Given the description of an element on the screen output the (x, y) to click on. 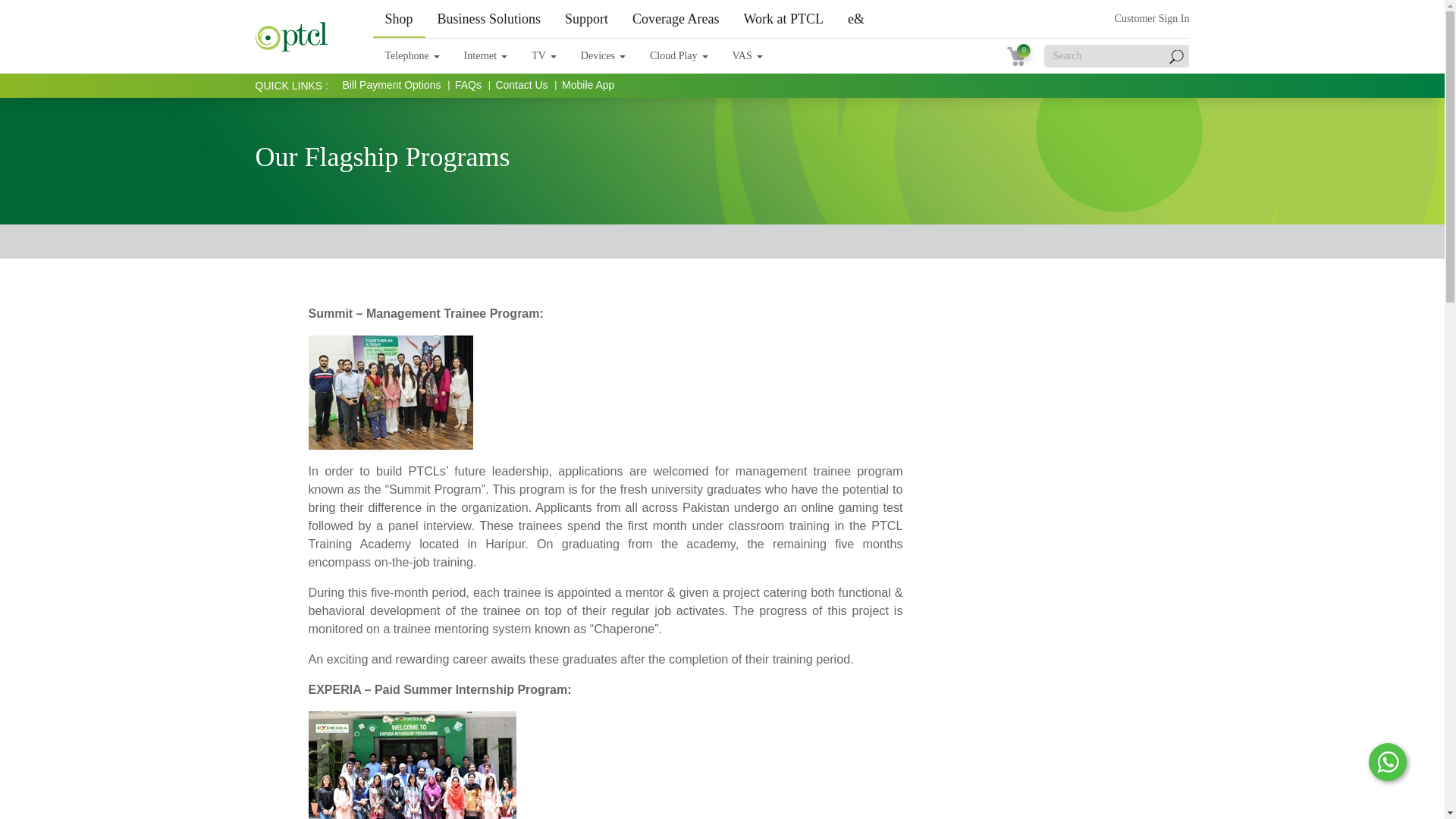
Work at PTCL (783, 18)
Business Solutions (489, 18)
Shop (398, 18)
Support (586, 18)
Coverage Areas (675, 18)
